Given the description of an element on the screen output the (x, y) to click on. 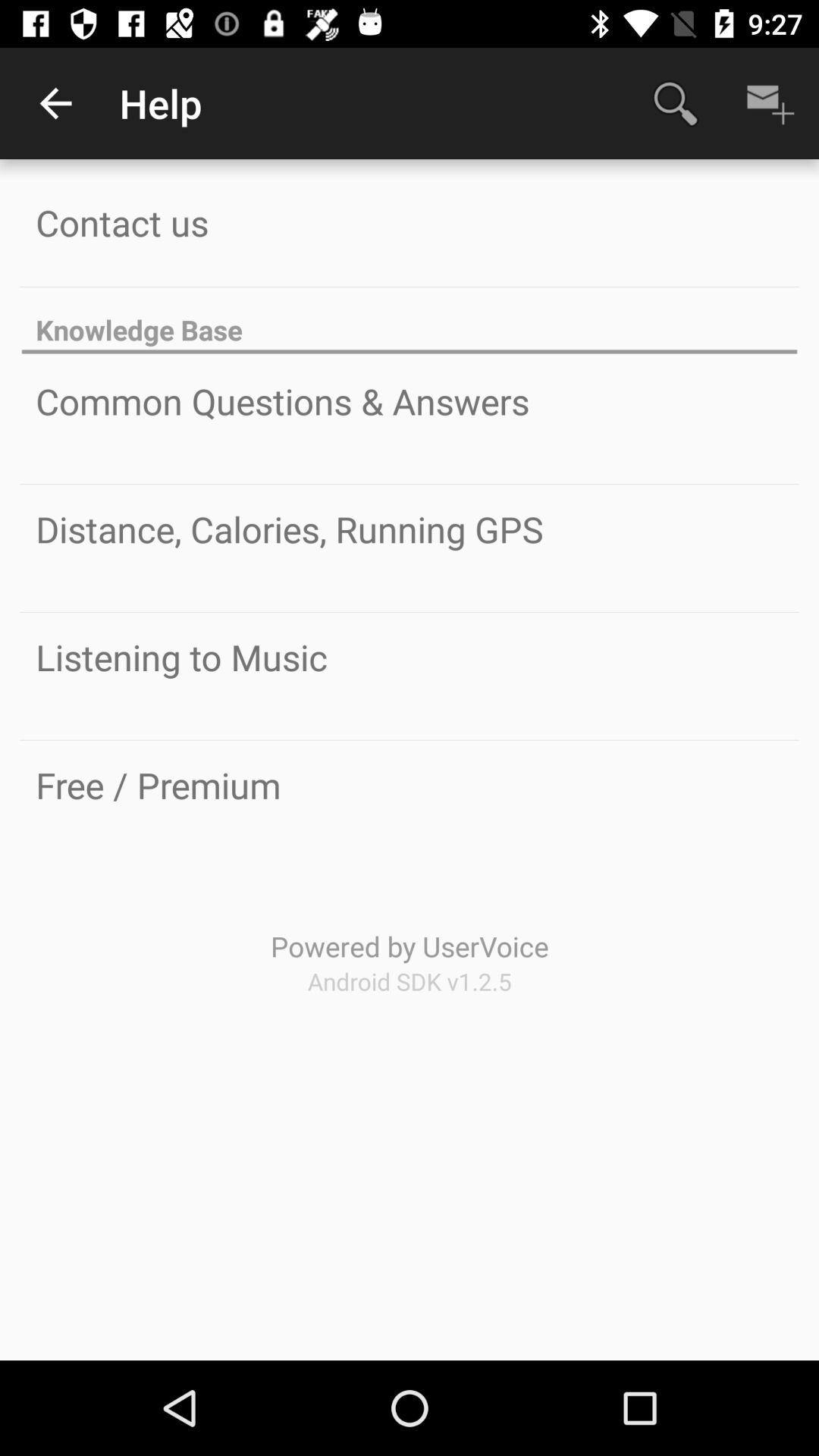
turn off the powered by uservoice item (409, 946)
